Given the description of an element on the screen output the (x, y) to click on. 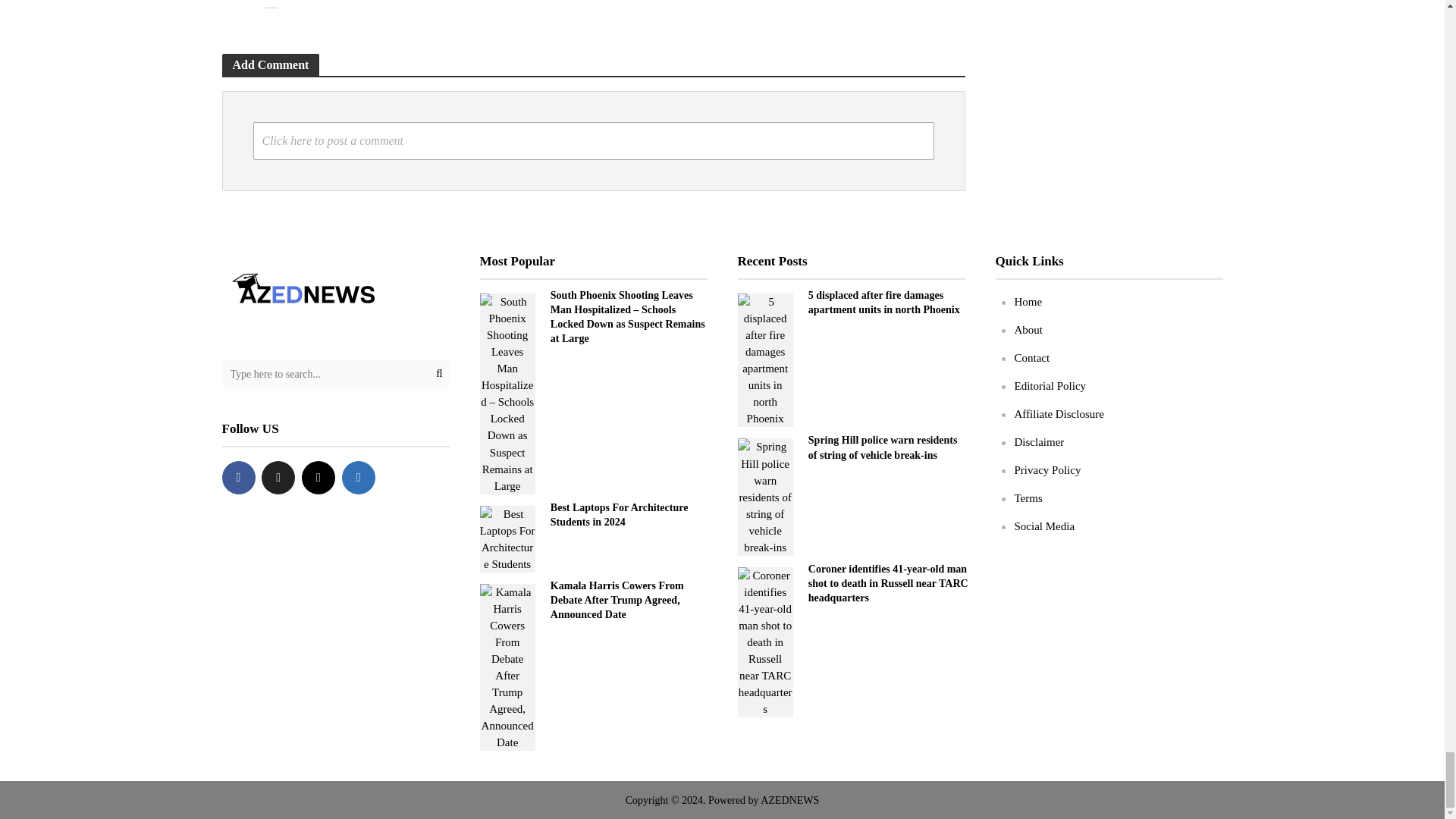
Linkedin (358, 477)
Facebook (237, 477)
Instagram (317, 477)
